Given the description of an element on the screen output the (x, y) to click on. 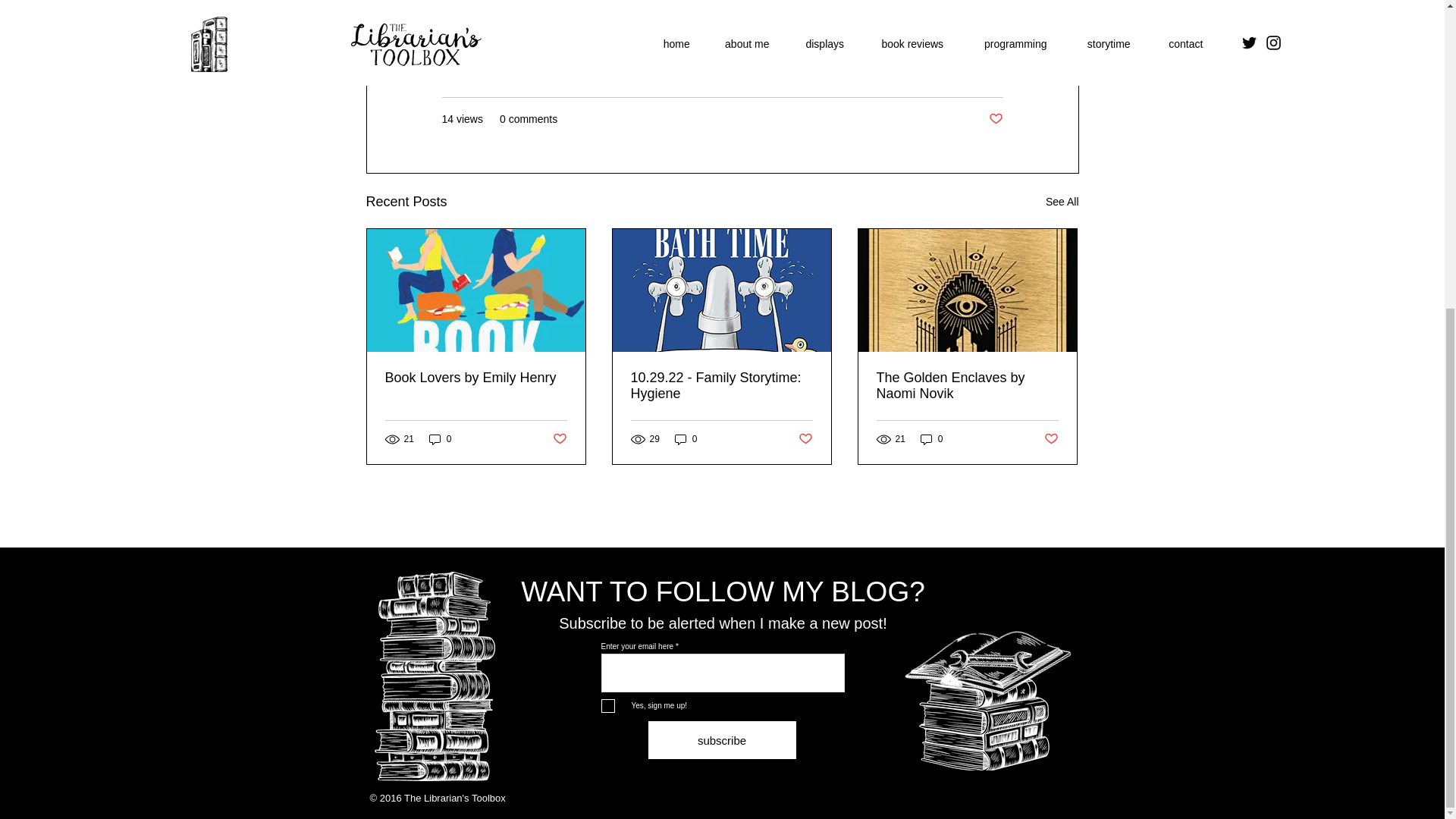
Post not marked as liked (804, 438)
children's (980, 73)
See All (1061, 201)
Post not marked as liked (558, 438)
0 (685, 439)
The Golden Enclaves by Naomi Novik (967, 386)
Post not marked as liked (995, 119)
0 (440, 439)
Book Lovers by Emily Henry (476, 377)
10.29.22 - Family Storytime: Hygiene (721, 386)
library life (885, 73)
DIY (933, 73)
